Given the description of an element on the screen output the (x, y) to click on. 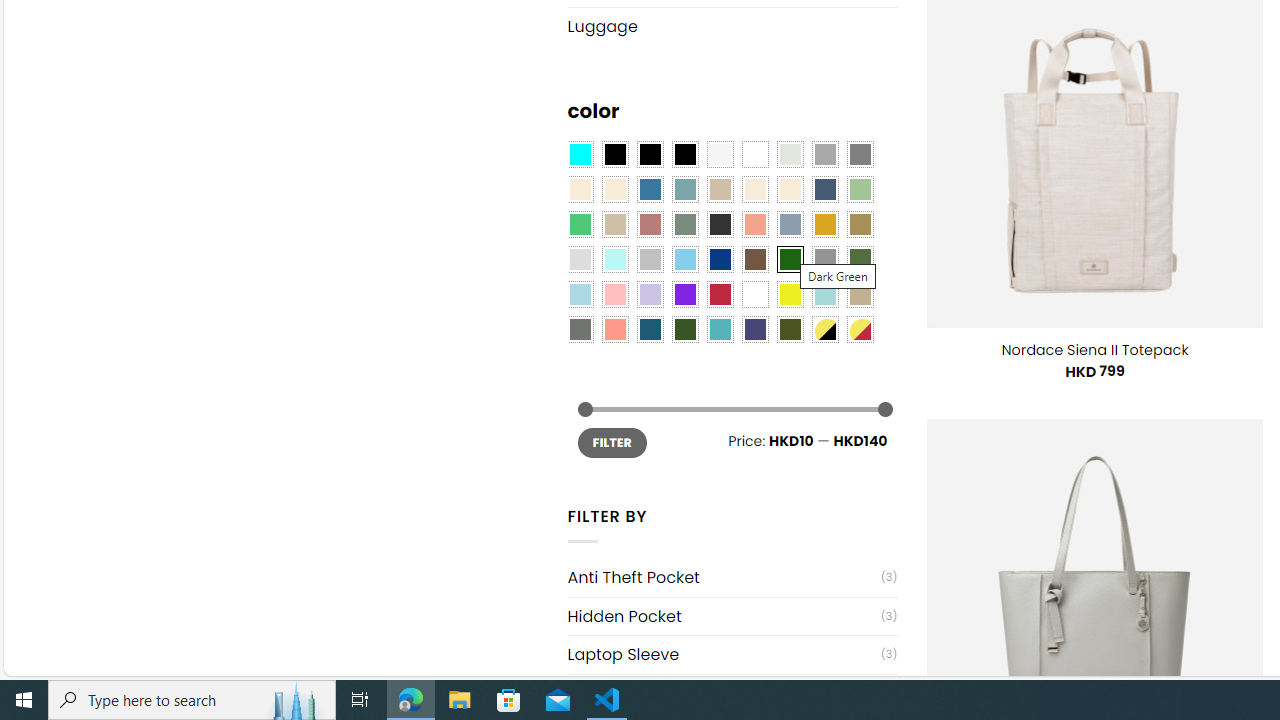
All Black (614, 154)
Brown (755, 259)
Yellow-Black (824, 329)
Dusty Blue (789, 224)
Peach Pink (614, 329)
Kelp (859, 224)
Blue Sage (684, 190)
Light Blue (579, 295)
Dark Gray (824, 154)
Beige (579, 190)
Gold (824, 224)
Clear (755, 154)
Purple (684, 295)
Laptop Sleeve(3) (732, 654)
Teal (719, 329)
